Given the description of an element on the screen output the (x, y) to click on. 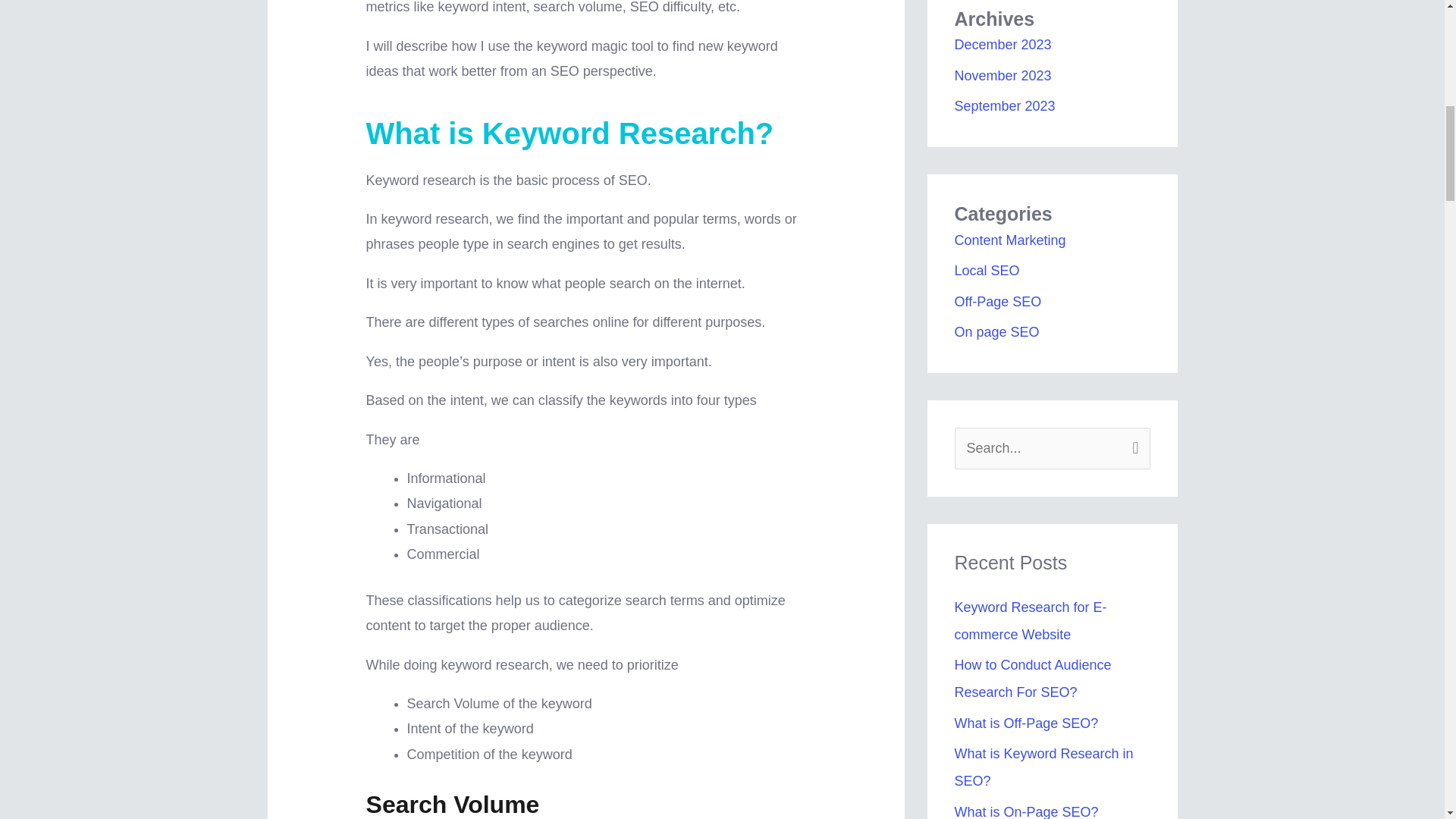
Search (1133, 444)
Search (1133, 444)
